Given the description of an element on the screen output the (x, y) to click on. 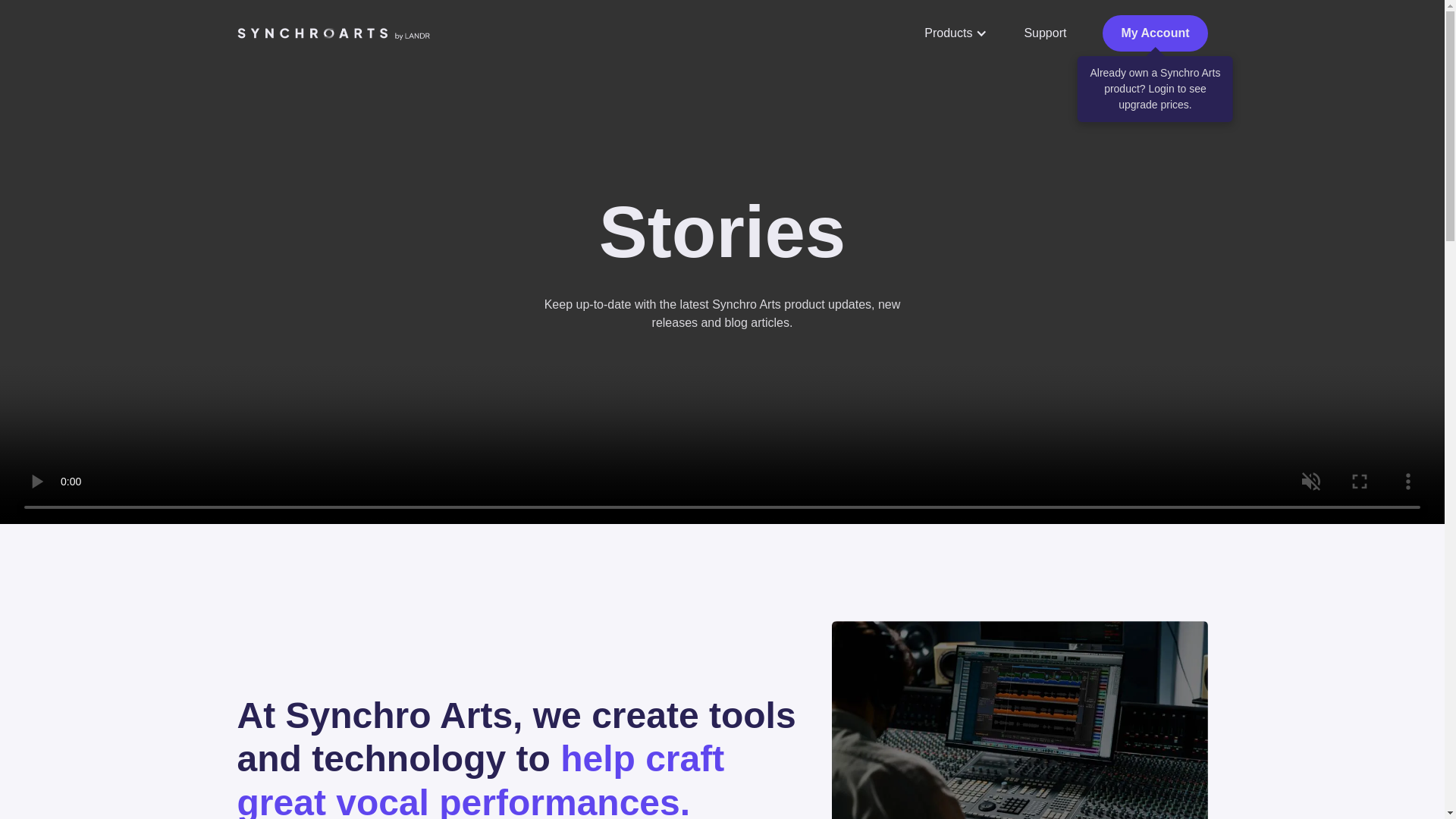
My Account (1154, 33)
Support (1044, 33)
